Given the description of an element on the screen output the (x, y) to click on. 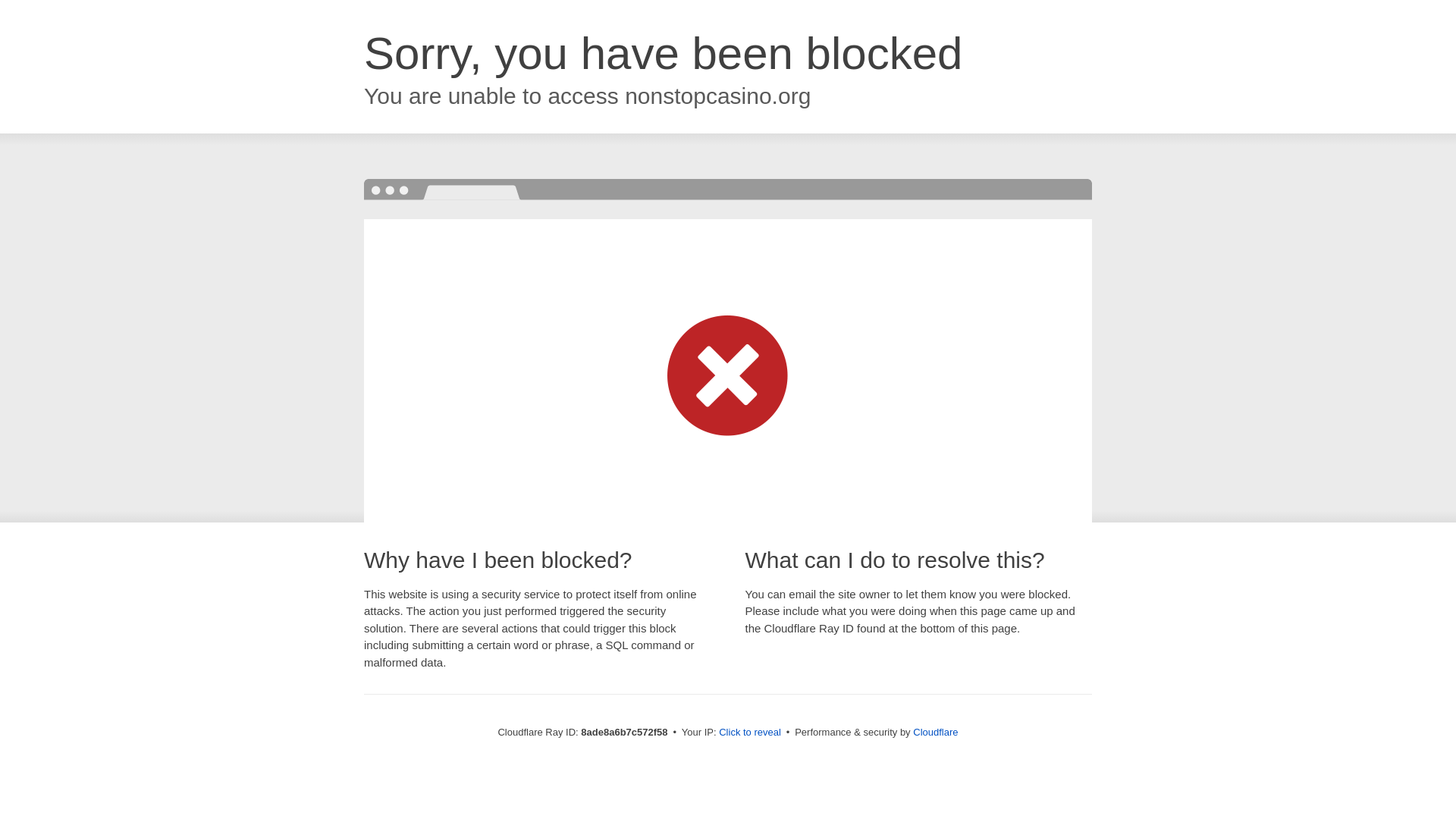
Click to reveal (749, 732)
Cloudflare (935, 731)
